Given the description of an element on the screen output the (x, y) to click on. 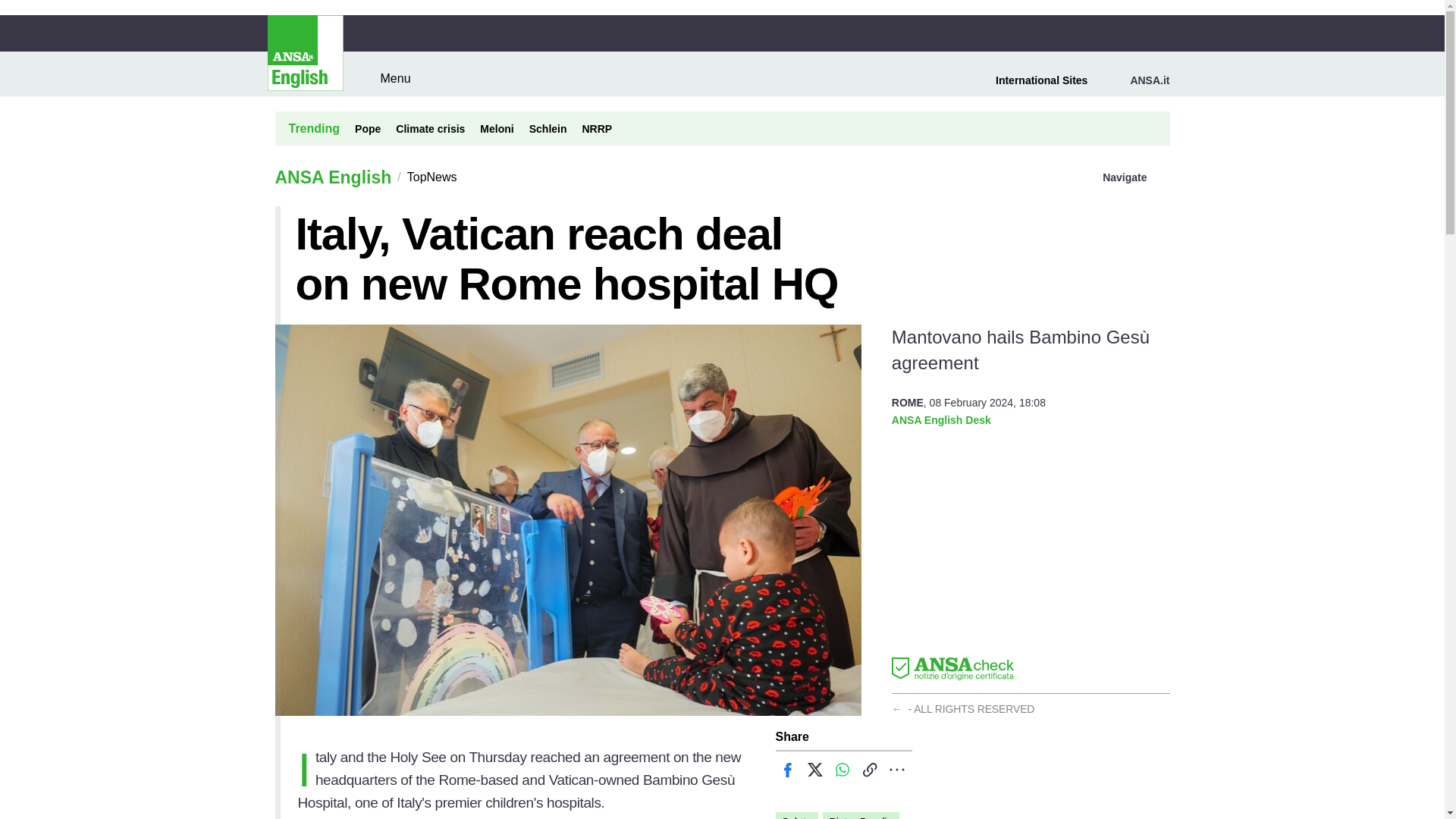
International Sites (1049, 80)
Menu (385, 78)
ANSA.it (1144, 80)
